Given the description of an element on the screen output the (x, y) to click on. 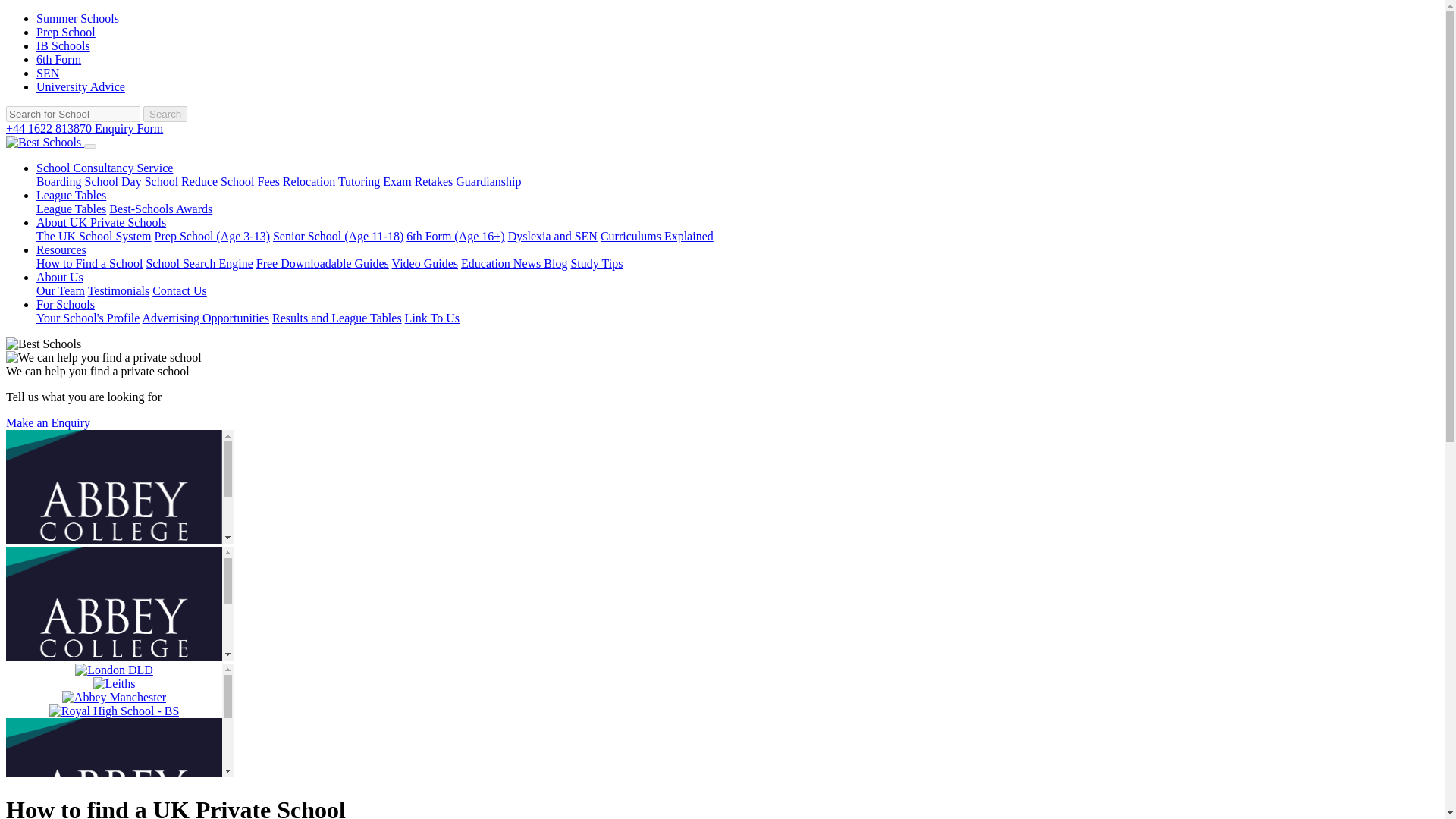
School Search Engine (198, 263)
Enquiry Form (128, 128)
How to Find a School (89, 263)
Curriculums Explained (656, 236)
Boarding School (76, 181)
Resources (60, 249)
Study Tips (596, 263)
Free Downloadable Guides (322, 263)
Reduce School Fees (229, 181)
League Tables (71, 208)
